Given the description of an element on the screen output the (x, y) to click on. 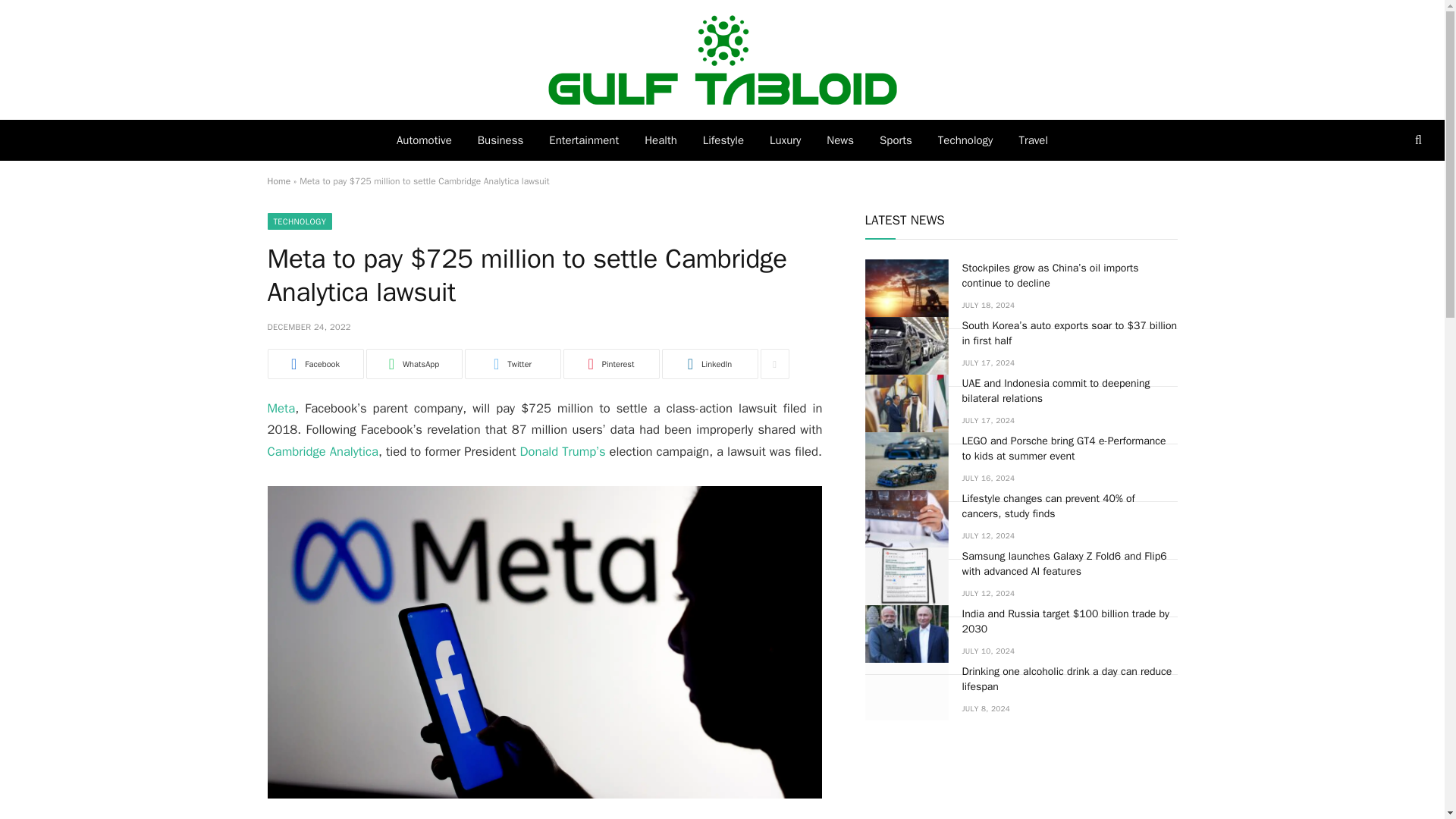
Home (277, 181)
Cambridge Analytica (321, 451)
Lifestyle (723, 139)
Health (660, 139)
Share on Facebook (314, 363)
Sports (895, 139)
Automotive (424, 139)
News (839, 139)
Facebook (314, 363)
Meta (280, 408)
LinkedIn (709, 363)
Twitter (512, 363)
Share on Pinterest (610, 363)
Travel (1033, 139)
Technology (965, 139)
